Given the description of an element on the screen output the (x, y) to click on. 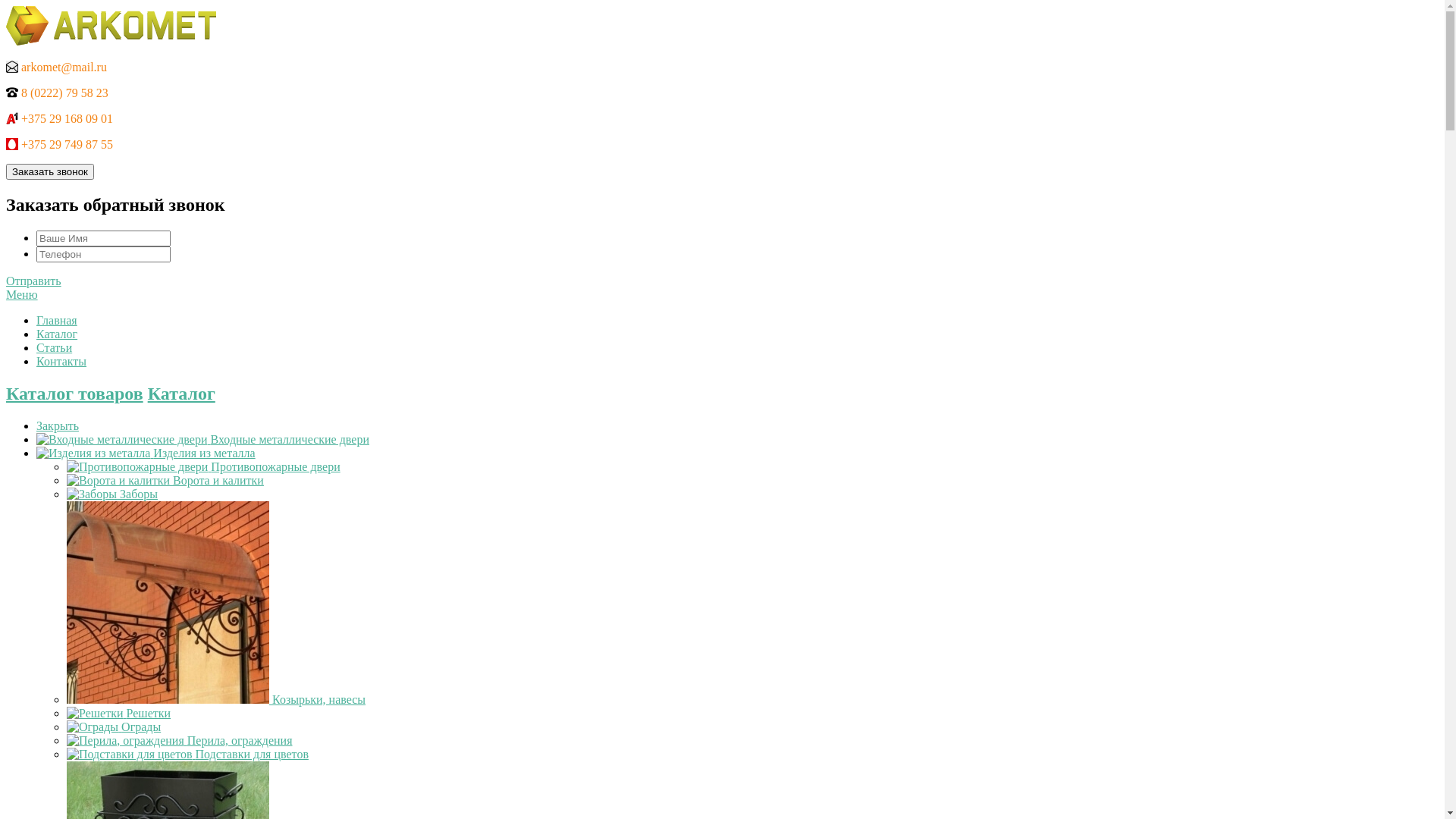
+375 29 749 87 55 Element type: text (59, 144)
8 (0222) 79 58 23 Element type: text (57, 92)
arkomet@mail.ru Element type: text (56, 66)
+375 29 168 09 01 Element type: text (59, 118)
A1 Element type: hover (12, 118)
